Given the description of an element on the screen output the (x, y) to click on. 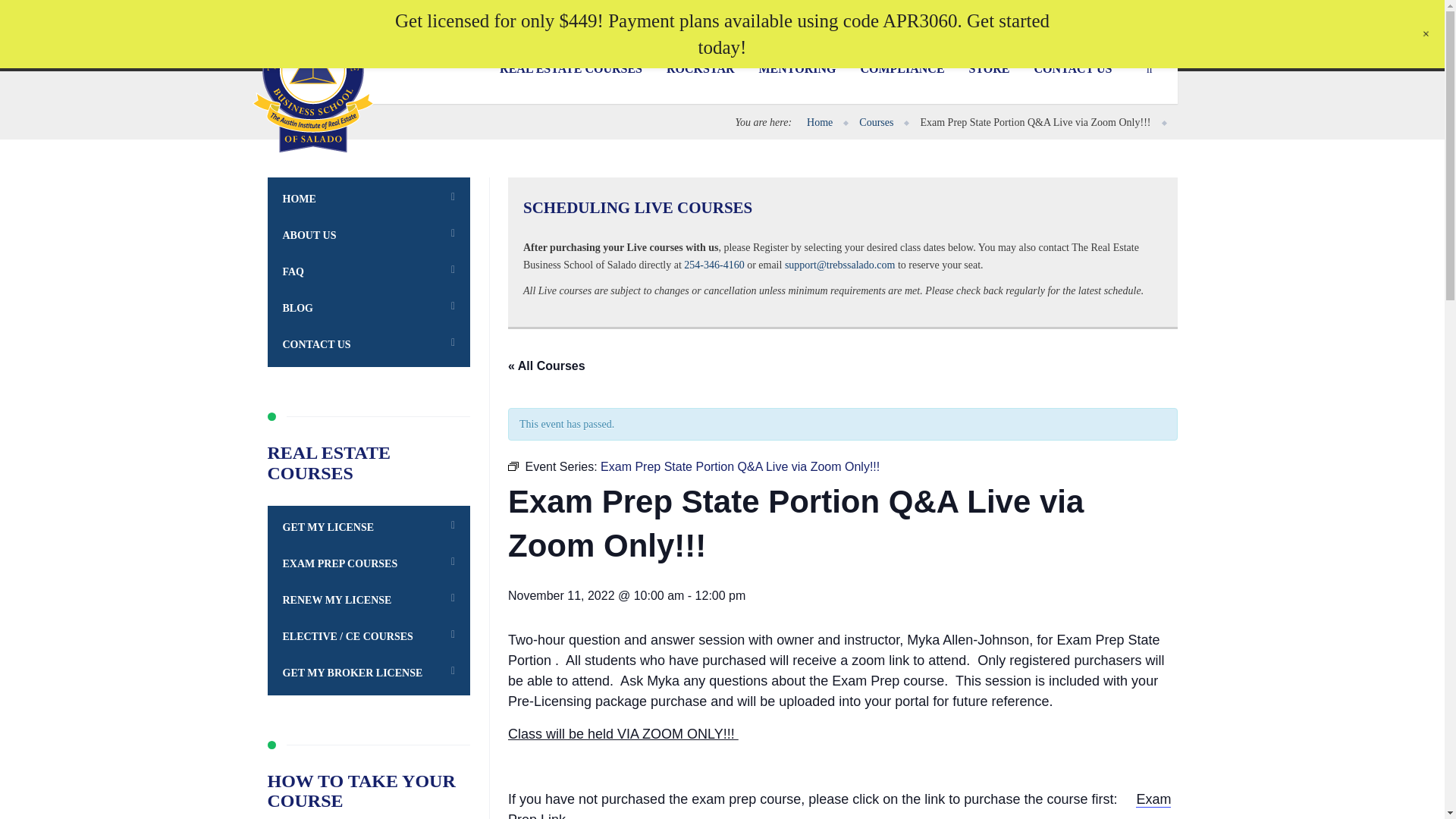
FAQ (1112, 17)
Courses (876, 122)
Home (819, 122)
254-346-4160 (679, 16)
254-346-4160 (714, 265)
Search (1143, 68)
REAL ESTATE COURSES (570, 68)
STORE (989, 68)
BLOG (1155, 17)
ROCKSTAR (699, 68)
